Given the description of an element on the screen output the (x, y) to click on. 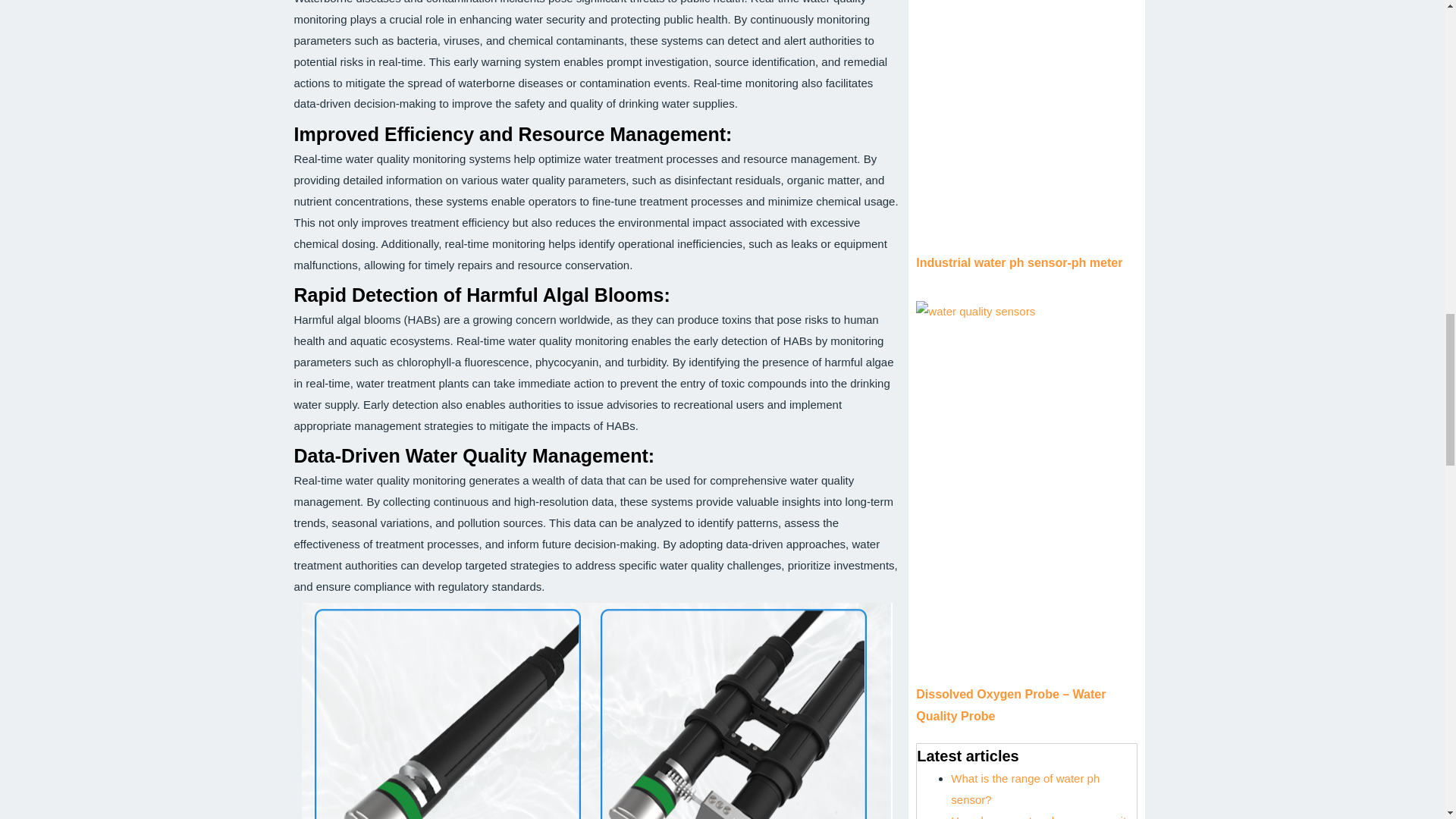
How does a water ph sensor monitor water quality? (1042, 816)
What is the range of water ph sensor? (1024, 788)
Industrial water ph sensor-ph meter (1018, 262)
